Given the description of an element on the screen output the (x, y) to click on. 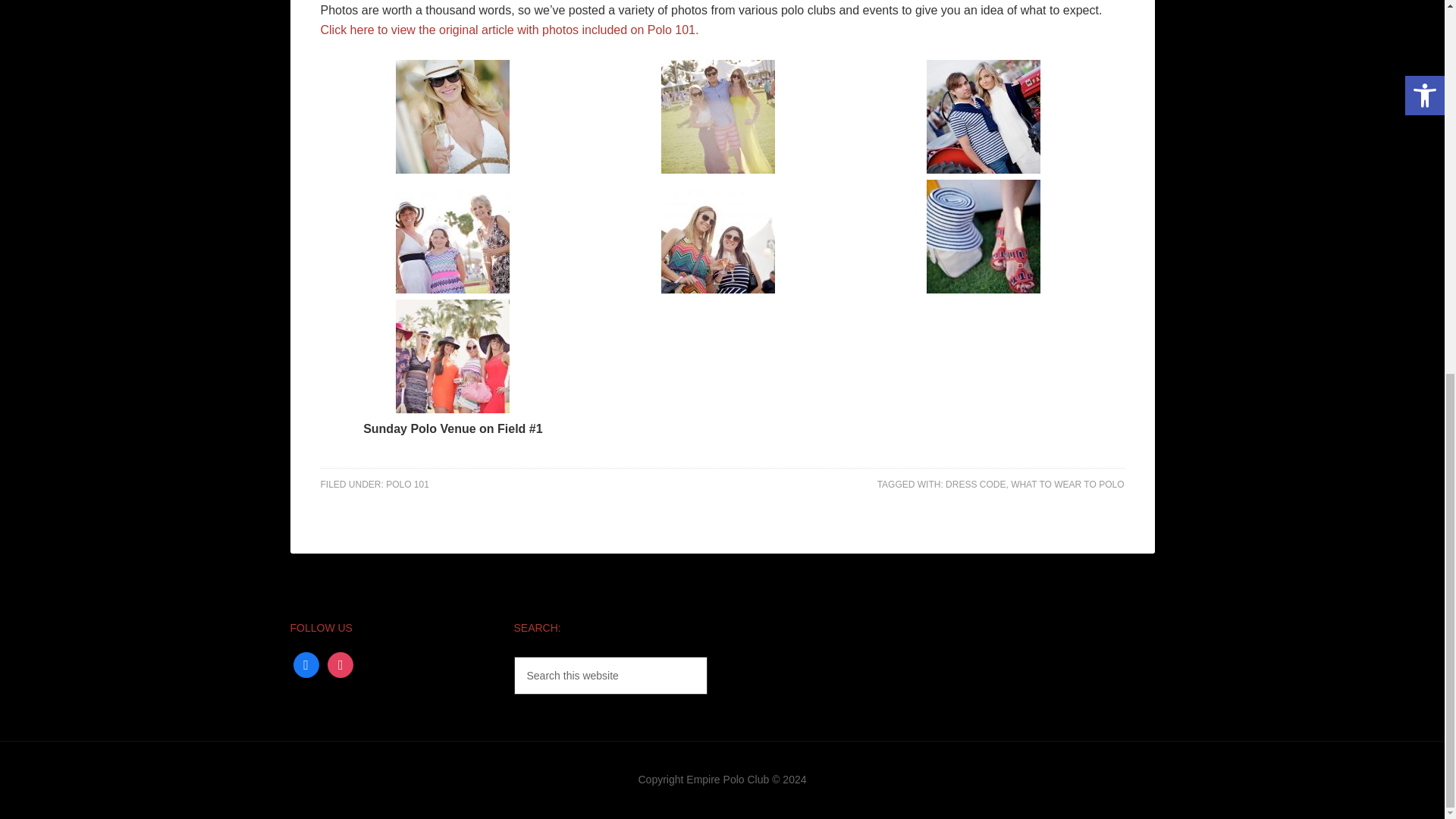
DRESS CODE (975, 484)
WHAT TO WEAR TO POLO (1067, 484)
facebook (305, 664)
instagram (340, 664)
Instagram (340, 664)
POLO 101 (407, 484)
Facebook (305, 664)
